Given the description of an element on the screen output the (x, y) to click on. 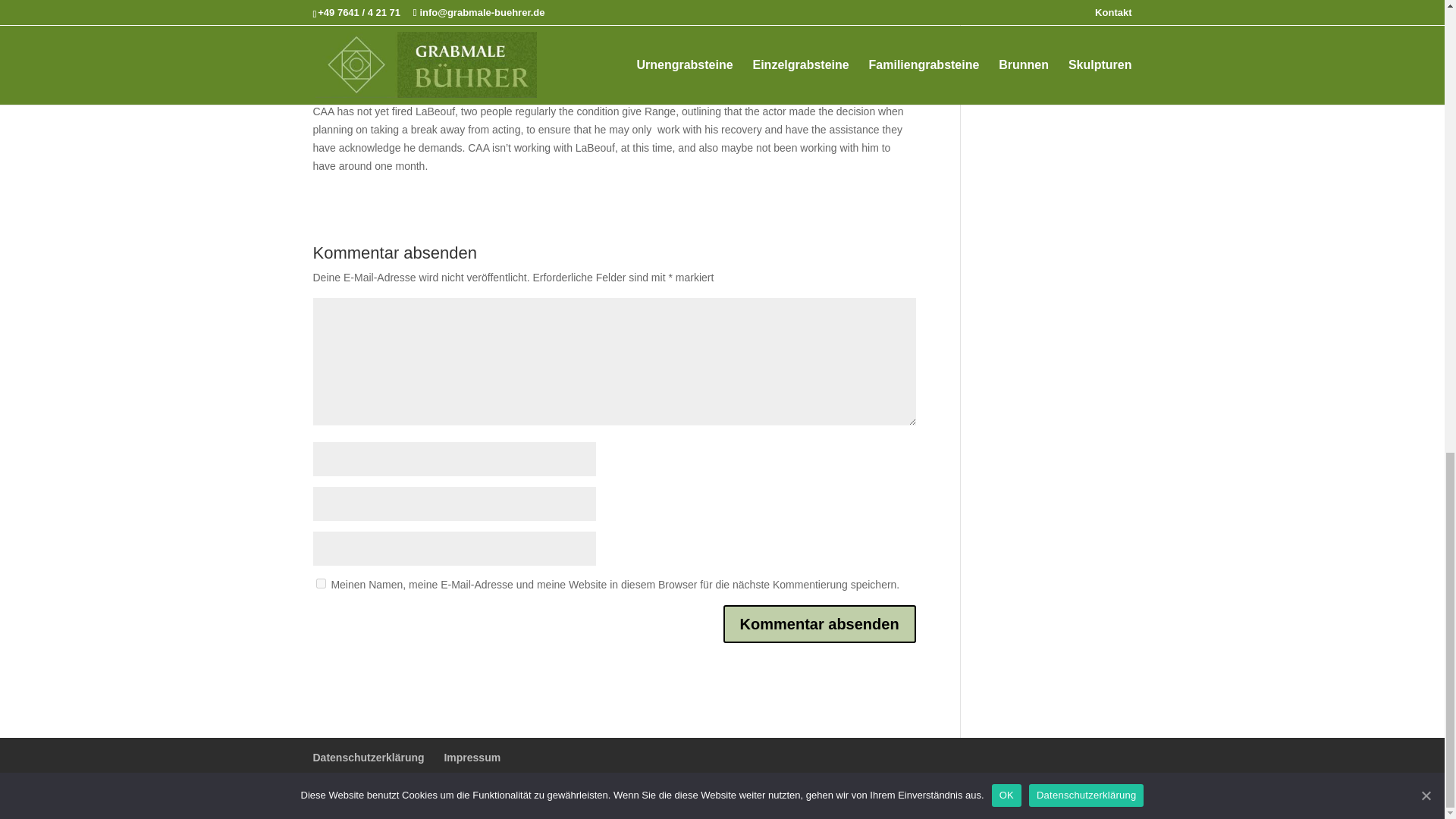
Kommentar absenden (819, 623)
yes (319, 583)
Impressum (472, 757)
Kommentar absenden (819, 623)
